Given the description of an element on the screen output the (x, y) to click on. 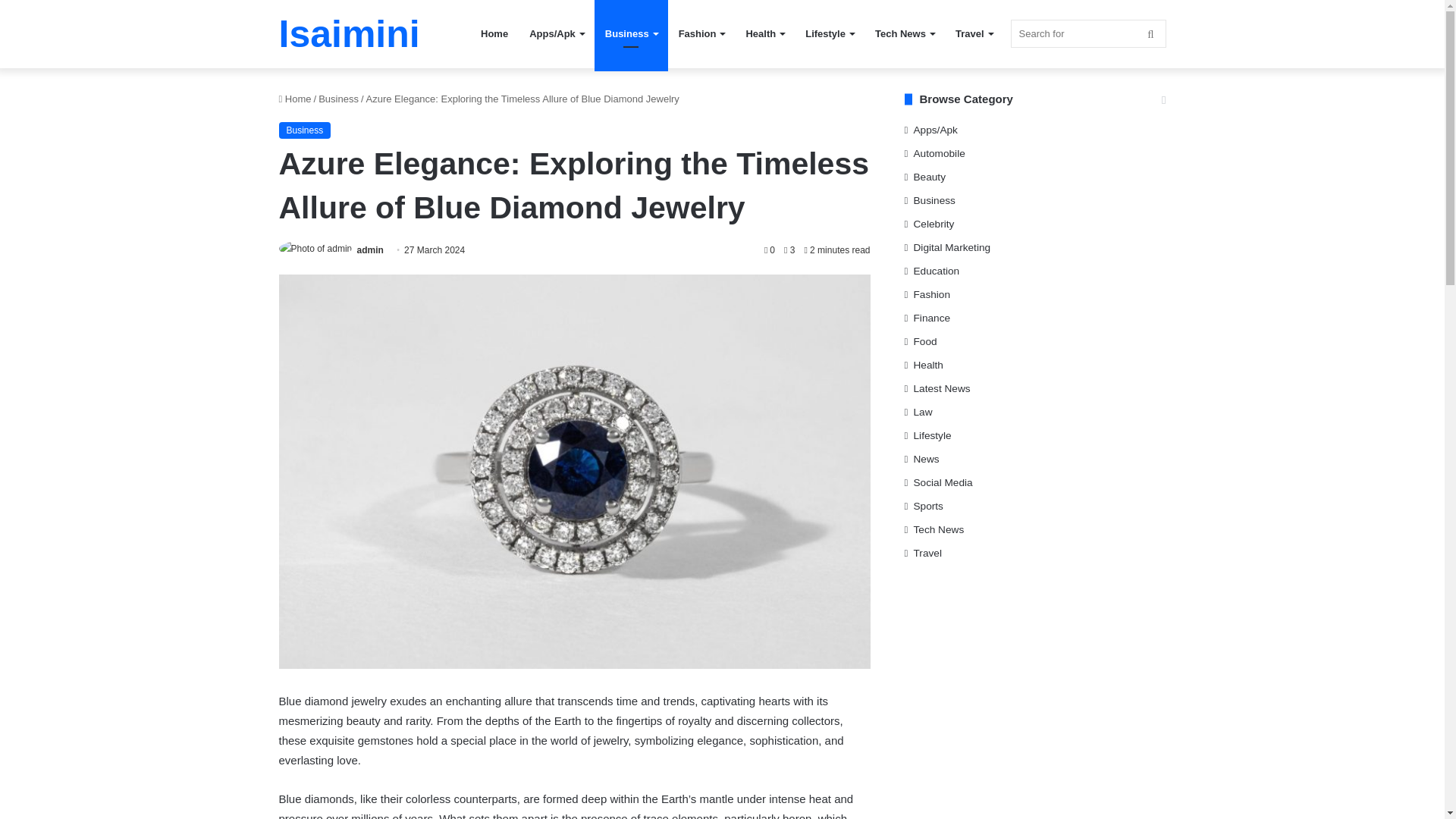
Business (338, 98)
Isaimini (349, 34)
Search for (1088, 33)
Business (631, 33)
Tech News (904, 33)
Isaimini (349, 34)
Fashion (701, 33)
admin (370, 249)
admin (370, 249)
Business (305, 130)
